Given the description of an element on the screen output the (x, y) to click on. 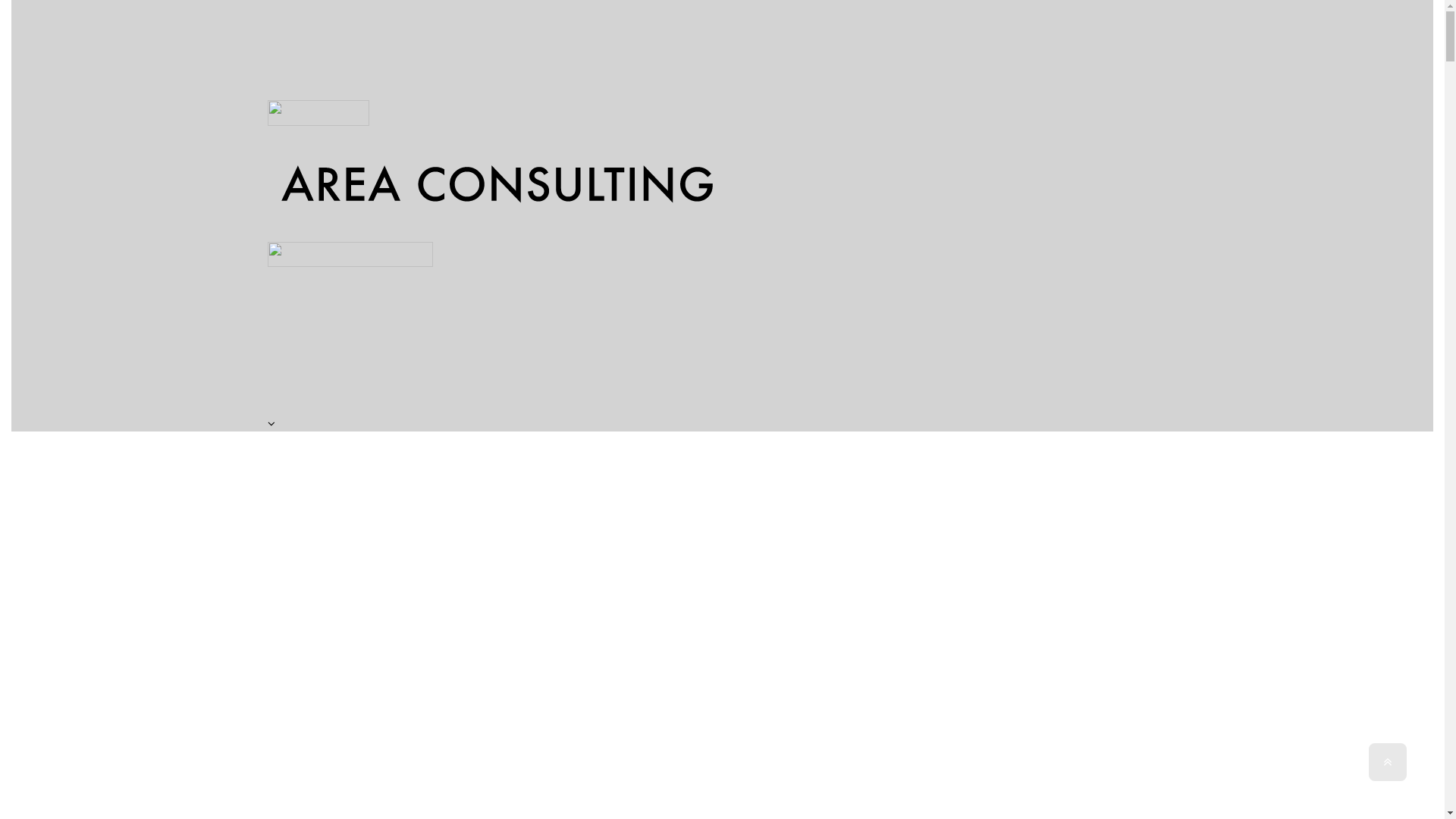
About Element type: text (722, 528)
Consultancy Element type: text (721, 762)
02 Element type: text (722, 606)
03 Element type: text (722, 723)
01 Element type: text (722, 489)
Philosophy Element type: text (722, 645)
